Given the description of an element on the screen output the (x, y) to click on. 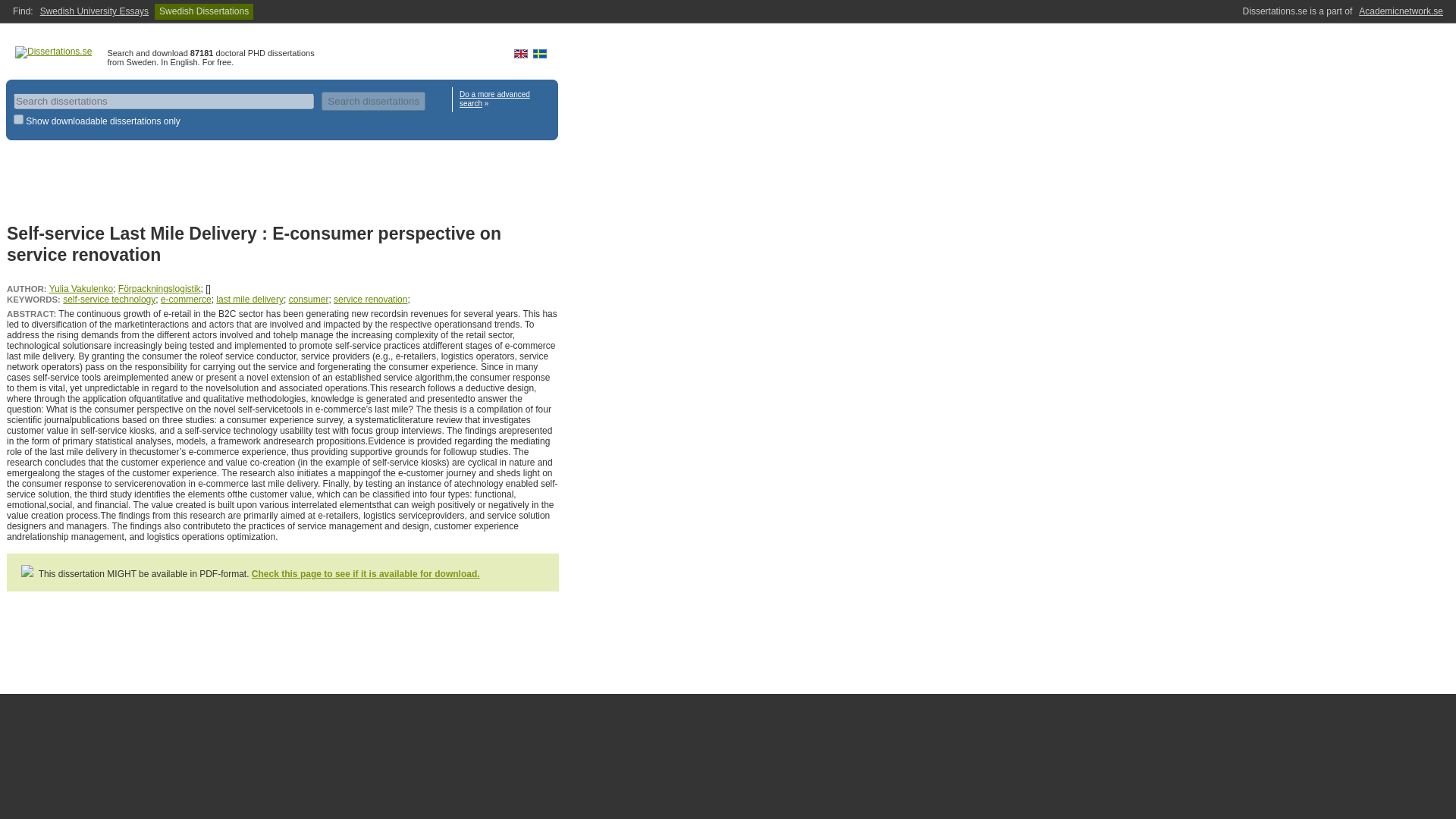
Yulia Vakulenko (81, 288)
Swedish Dissertations (203, 11)
e-commerce (185, 299)
Check this page to see if it is available for download. (365, 573)
consumer (308, 299)
Search dissertations (373, 100)
Academicnetwork.se (1400, 11)
service renovation (370, 299)
self-service technology (108, 299)
Search dissertations (373, 100)
